Given the description of an element on the screen output the (x, y) to click on. 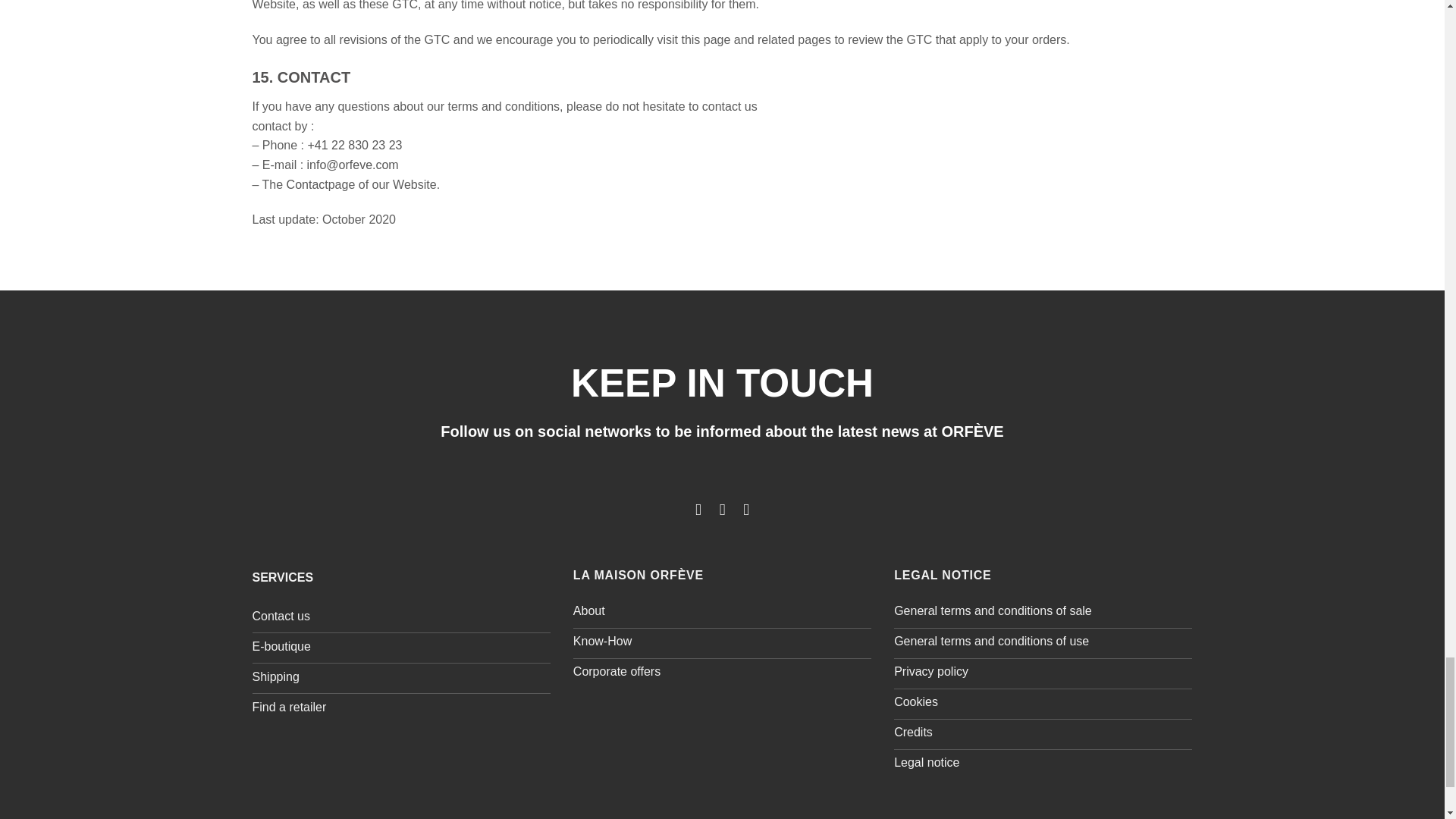
Follow on Instagram (722, 508)
General terms and conditions of sale (1042, 613)
Shipping (400, 678)
Follow on LinkedIn (746, 508)
Find a retailer (400, 708)
E-boutique (400, 648)
Corporate offers (721, 674)
Contact (307, 184)
Contact us (400, 617)
About (721, 613)
